Given the description of an element on the screen output the (x, y) to click on. 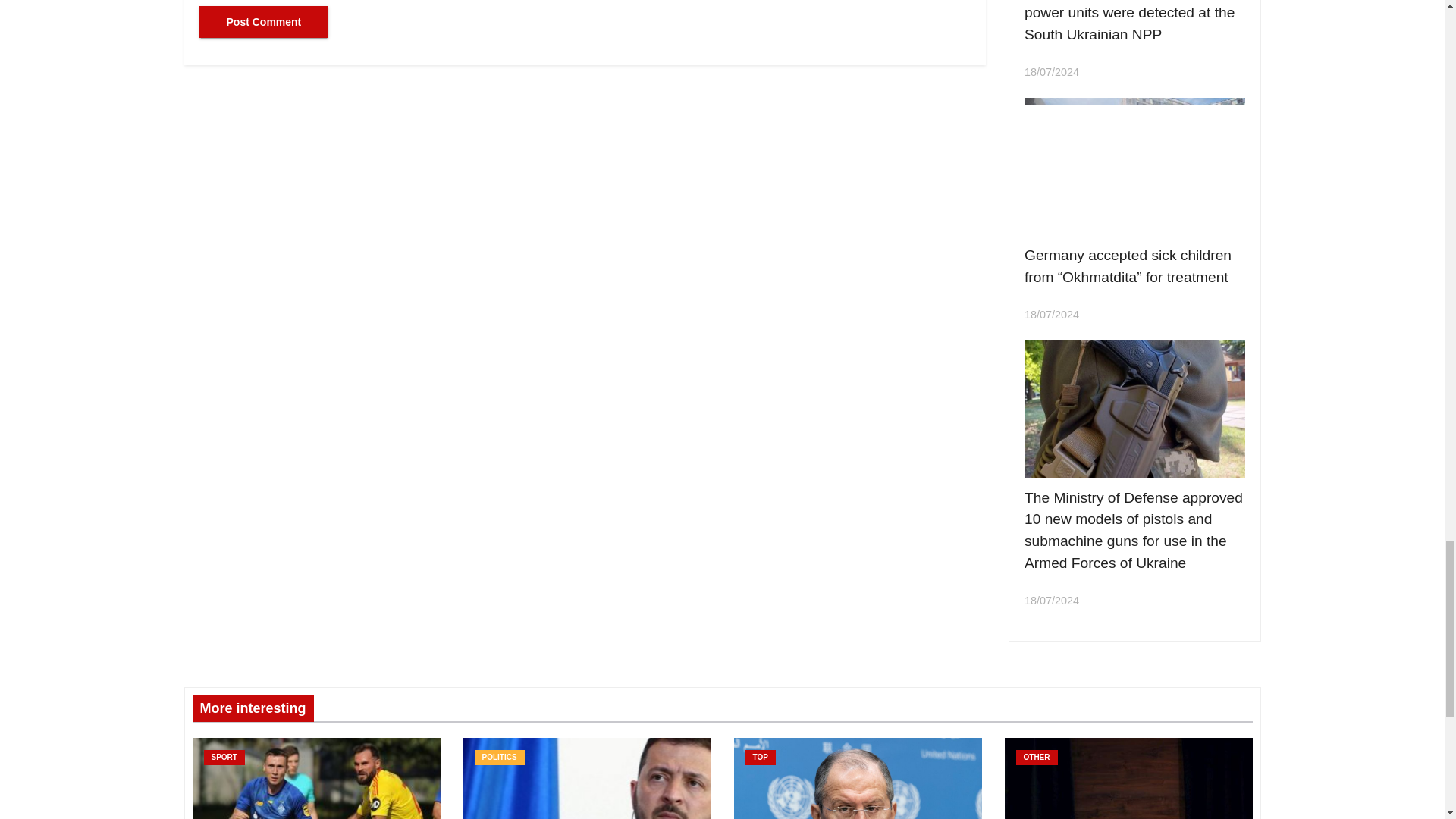
Post Comment (263, 21)
